Given the description of an element on the screen output the (x, y) to click on. 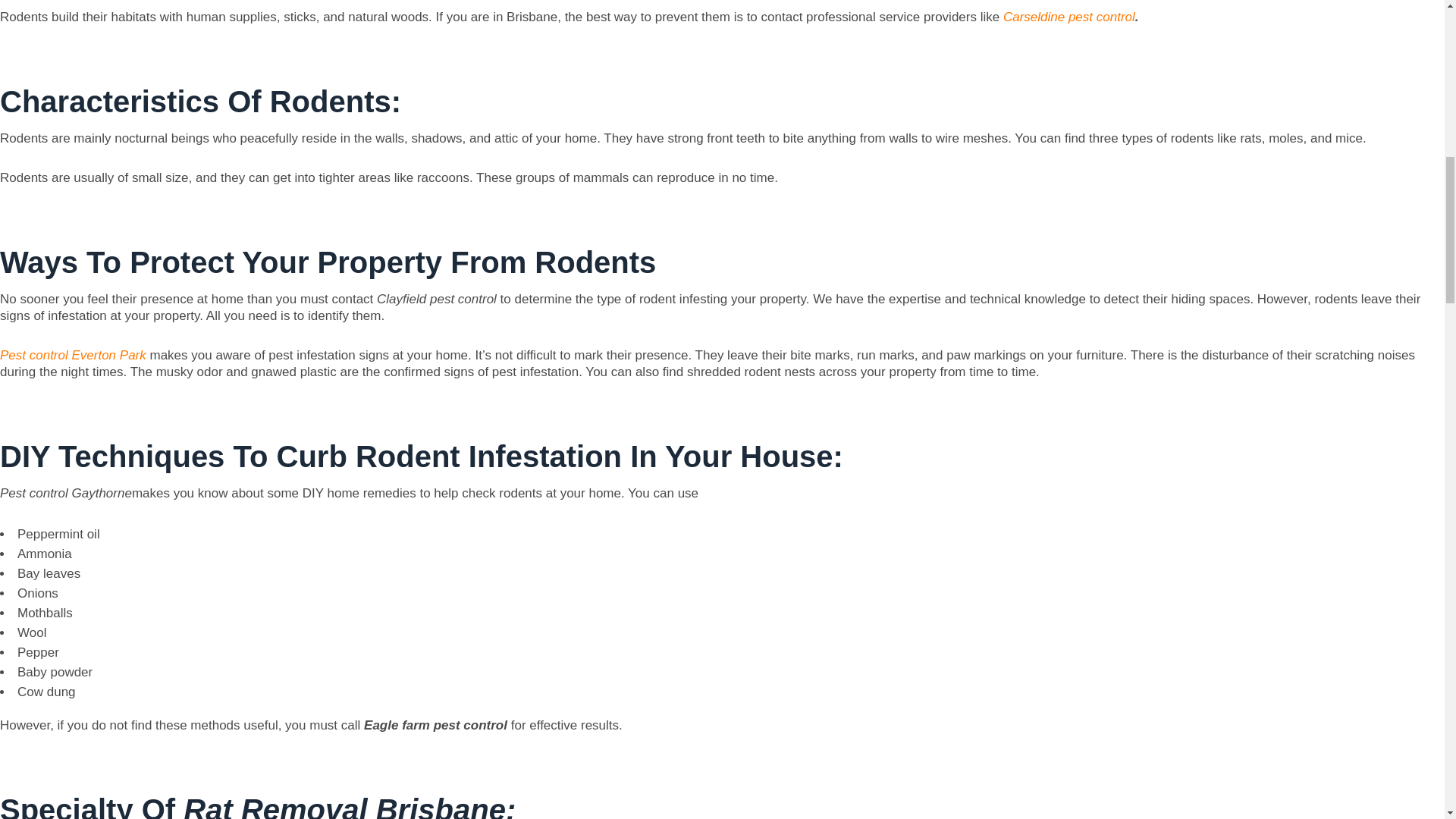
Pest control Everton Park (73, 355)
Carseldine pest control (1069, 16)
